Given the description of an element on the screen output the (x, y) to click on. 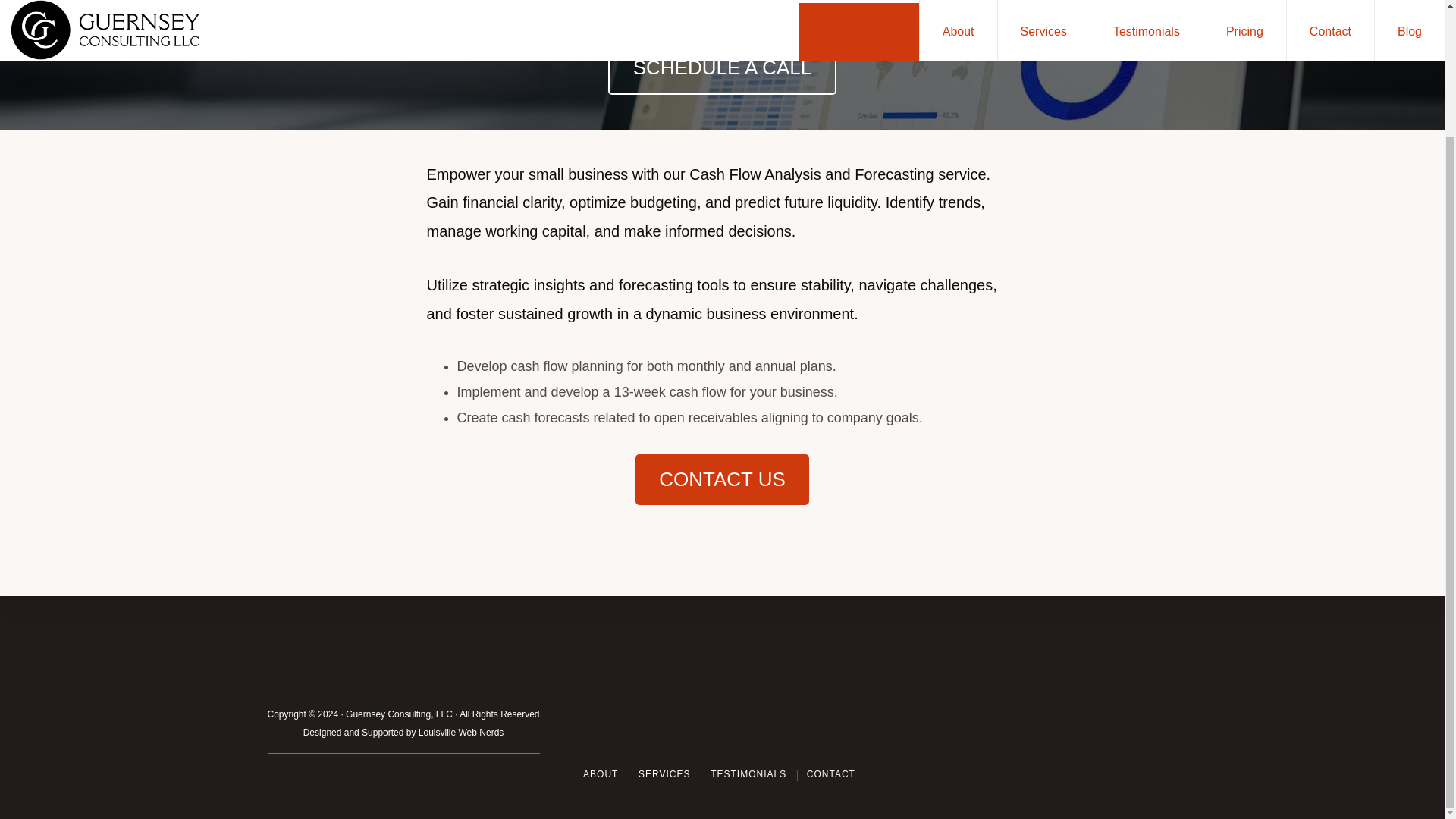
SCHEDULE A CALL (722, 67)
CONTACT (831, 622)
Louisville Web Nerds (461, 581)
CONTACT US (721, 479)
ABOUT (600, 622)
TESTIMONIALS (748, 622)
SERVICES (664, 622)
